Given the description of an element on the screen output the (x, y) to click on. 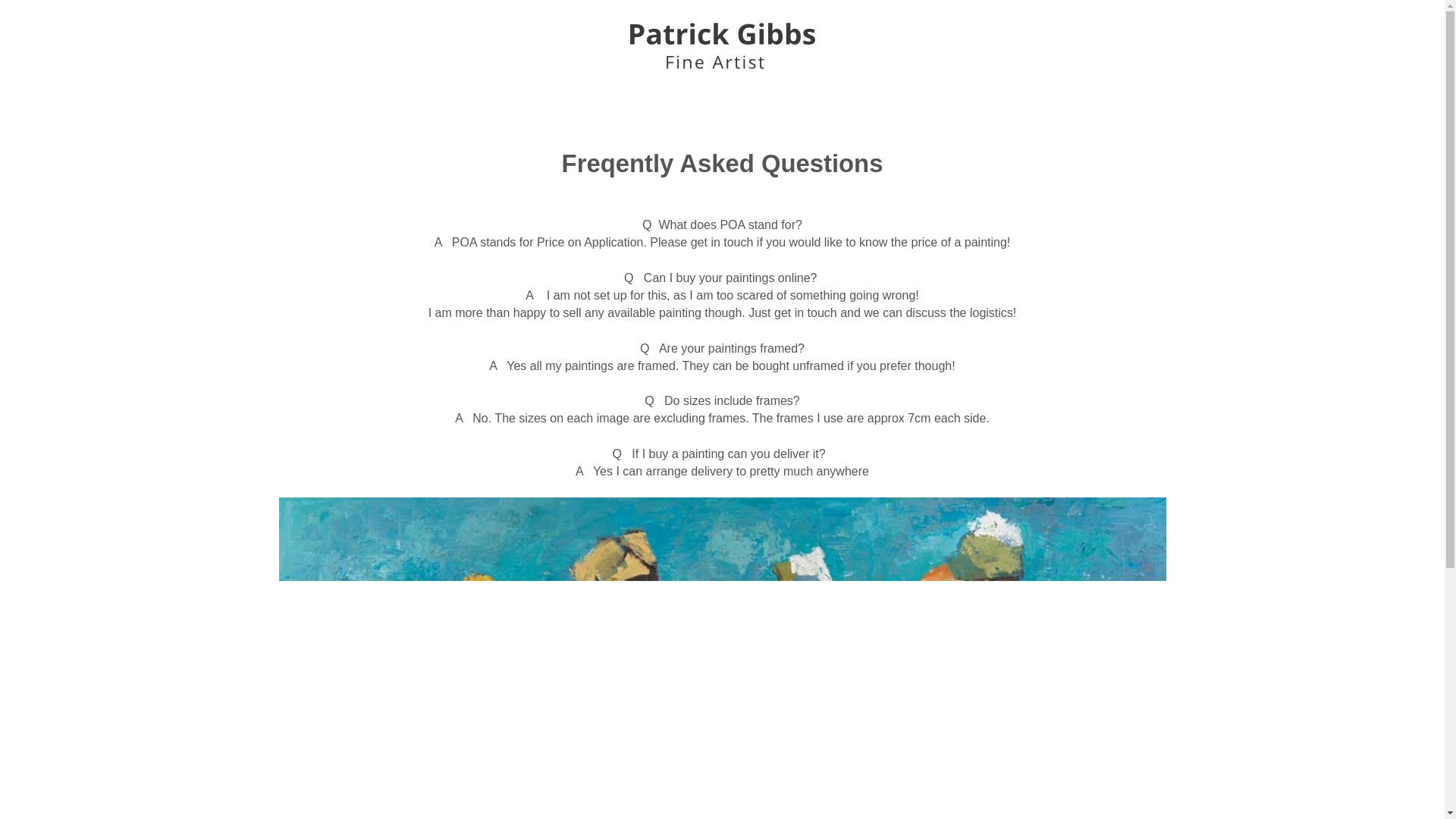
C O N T A C T (899, 109)
G A L L E R Y (722, 109)
A B O U T (1077, 109)
H O M E (366, 109)
E X H I B I T I O N S (544, 109)
